Given the description of an element on the screen output the (x, y) to click on. 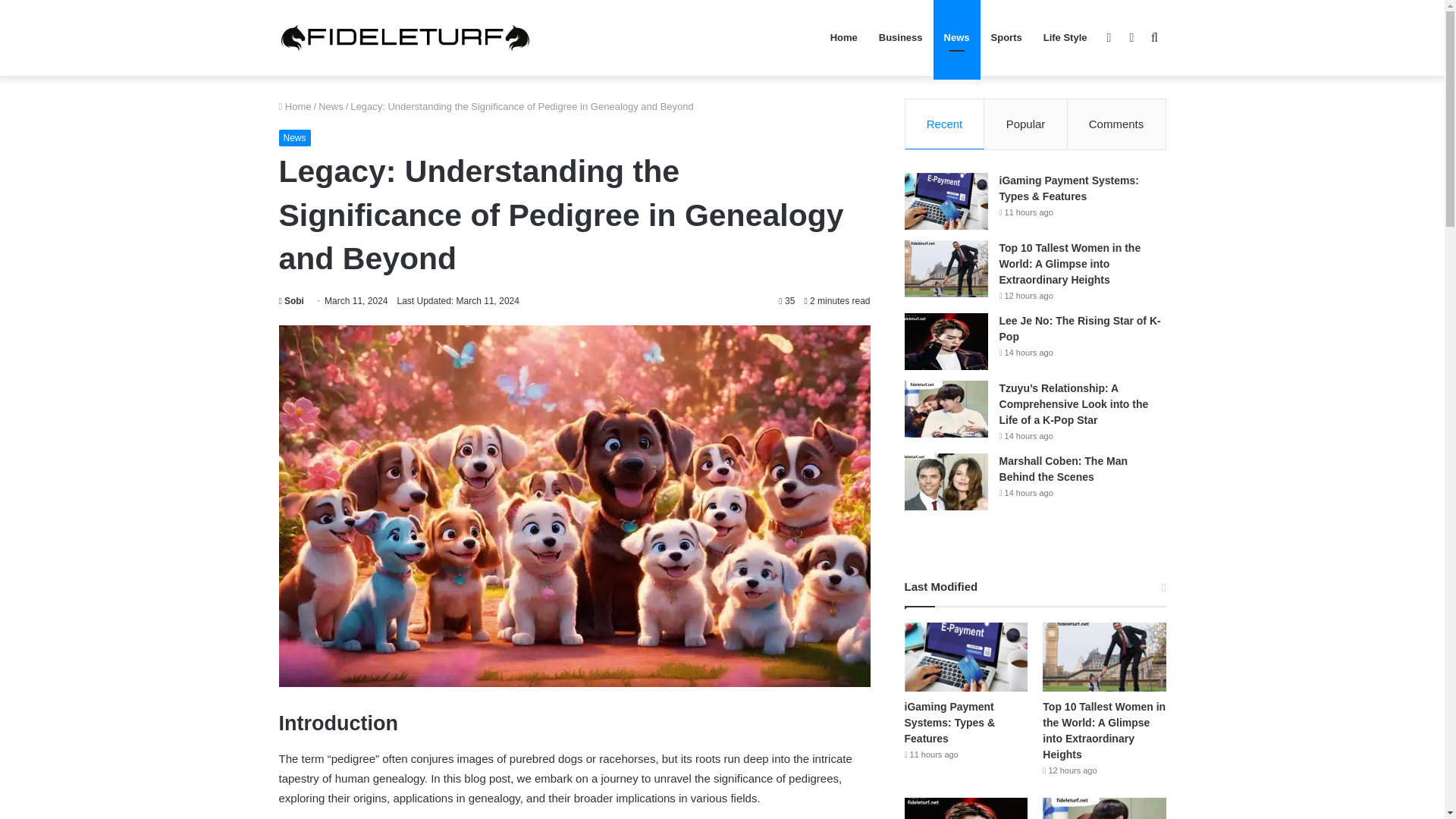
Home (843, 38)
Home (295, 106)
Sobi (291, 300)
Sobi (291, 300)
Business (900, 38)
Search for (1154, 38)
Random Article (1109, 38)
Random Article (1109, 38)
Switch skin (1131, 38)
News (956, 38)
Life Style (1064, 38)
Switch skin (1131, 38)
News (330, 106)
Sports (1005, 38)
fideleturf (405, 37)
